Given the description of an element on the screen output the (x, y) to click on. 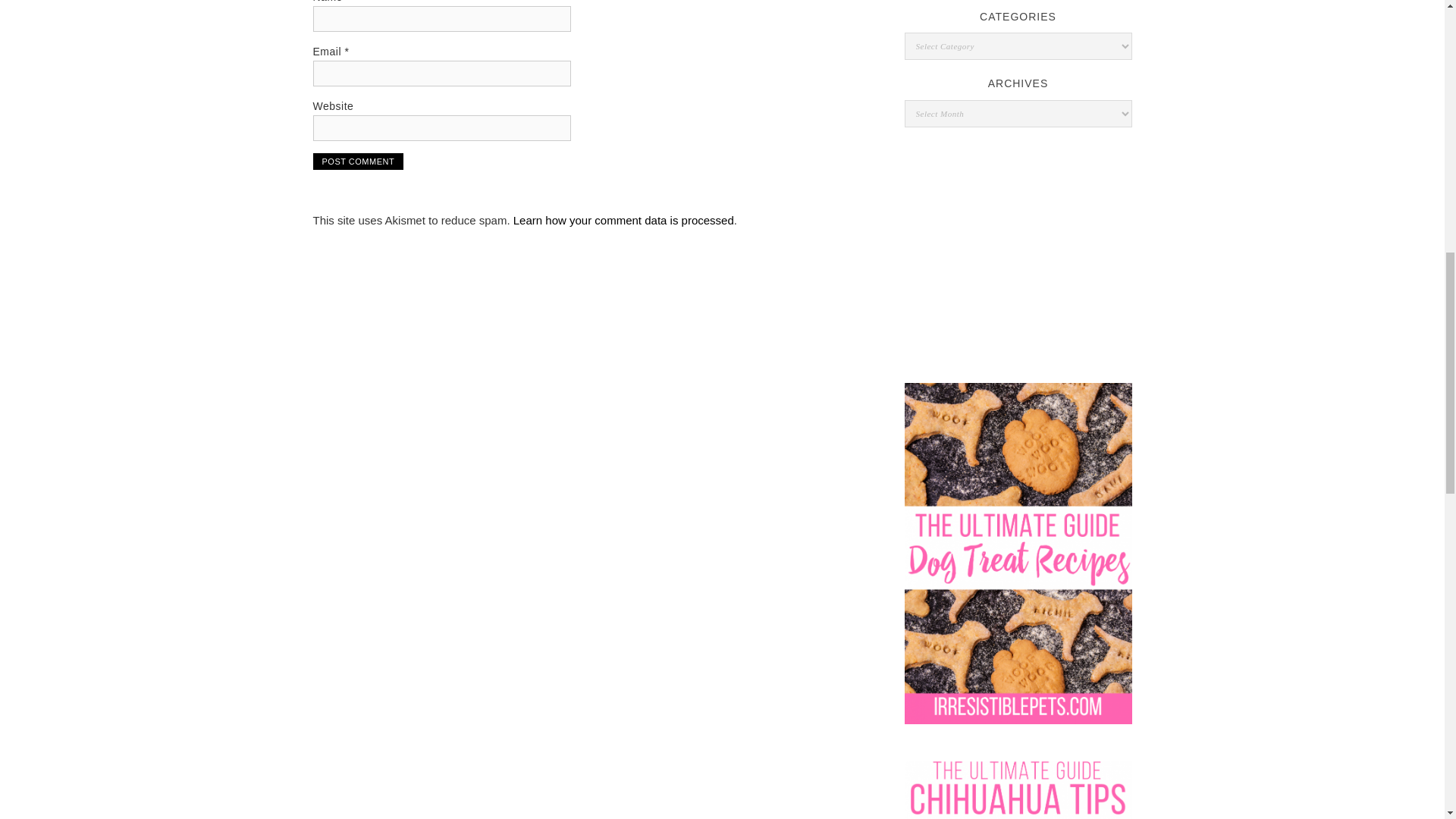
Post Comment (358, 161)
Learn how your comment data is processed (623, 219)
Post Comment (358, 161)
